Given the description of an element on the screen output the (x, y) to click on. 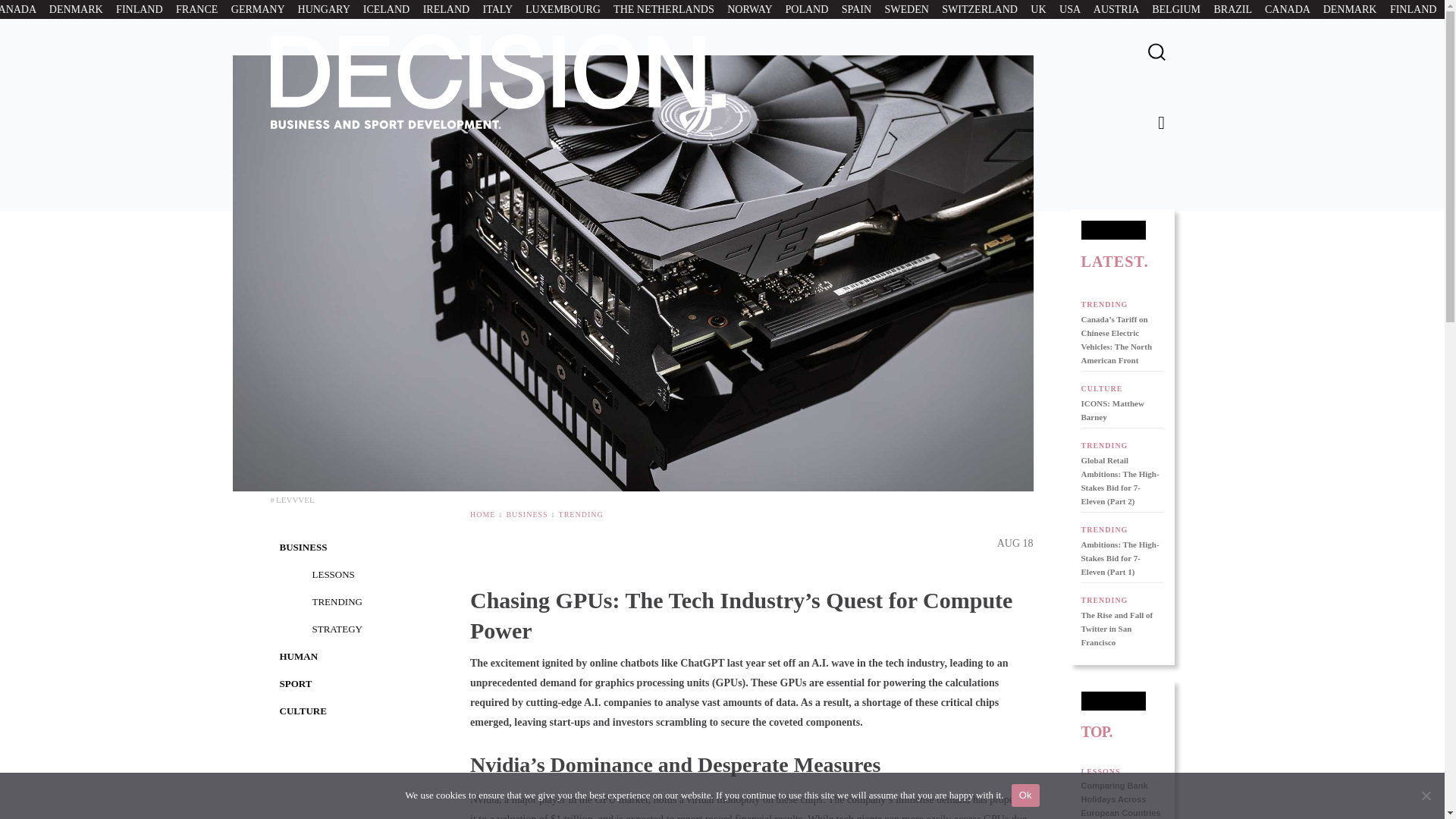
BUSINESS (526, 514)
View all posts in Business (526, 514)
TRENDING (337, 601)
Facebook (1161, 122)
STRATEGY (337, 628)
TRENDING (581, 514)
CULTURE (302, 710)
BUSINESS (302, 546)
LESSONS (334, 573)
